Given the description of an element on the screen output the (x, y) to click on. 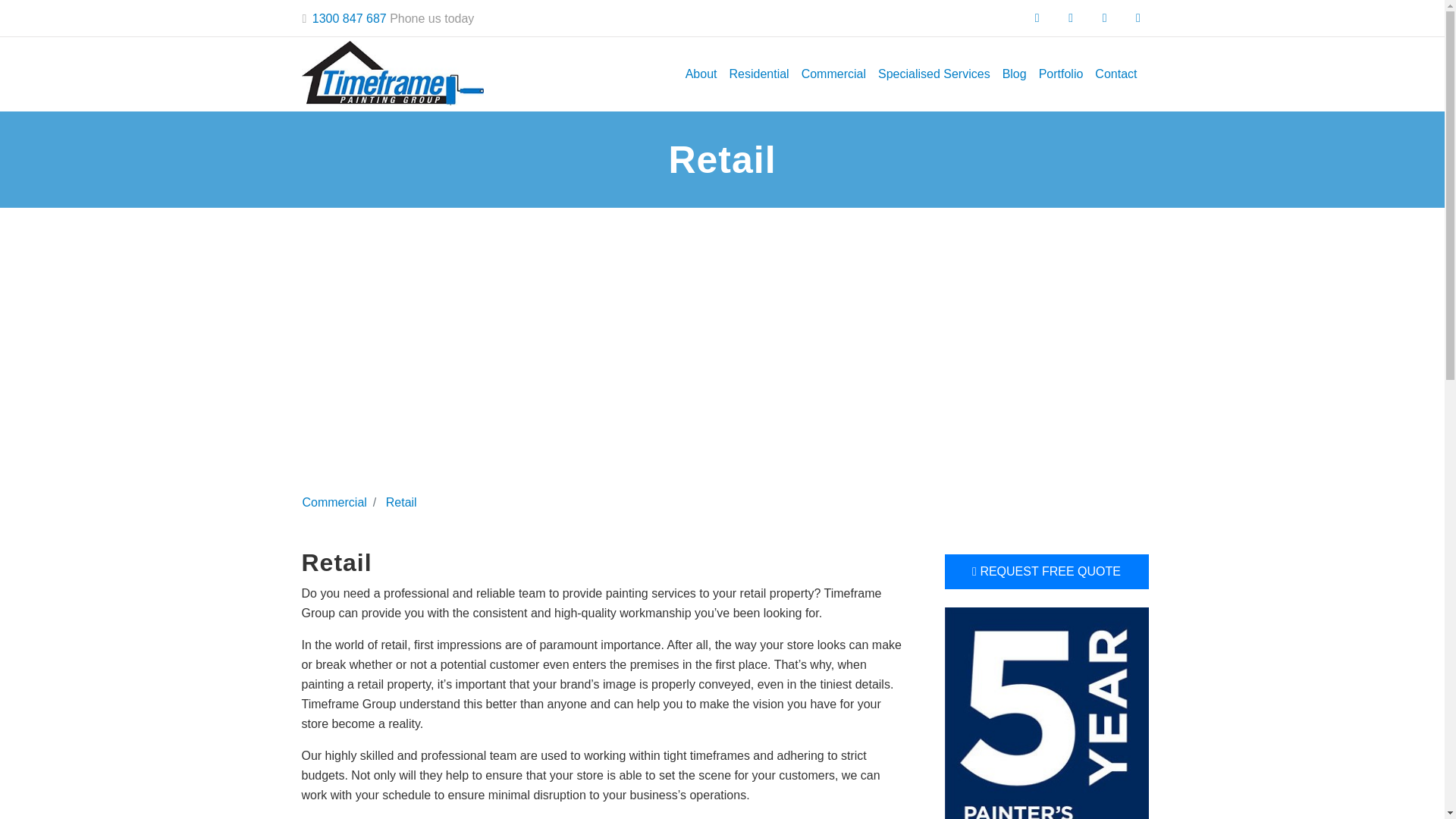
1300 847 687 (350, 18)
About (701, 73)
5 year warranty (1046, 748)
Residential (758, 73)
Specialised Services (933, 73)
Commercial (833, 73)
